Given the description of an element on the screen output the (x, y) to click on. 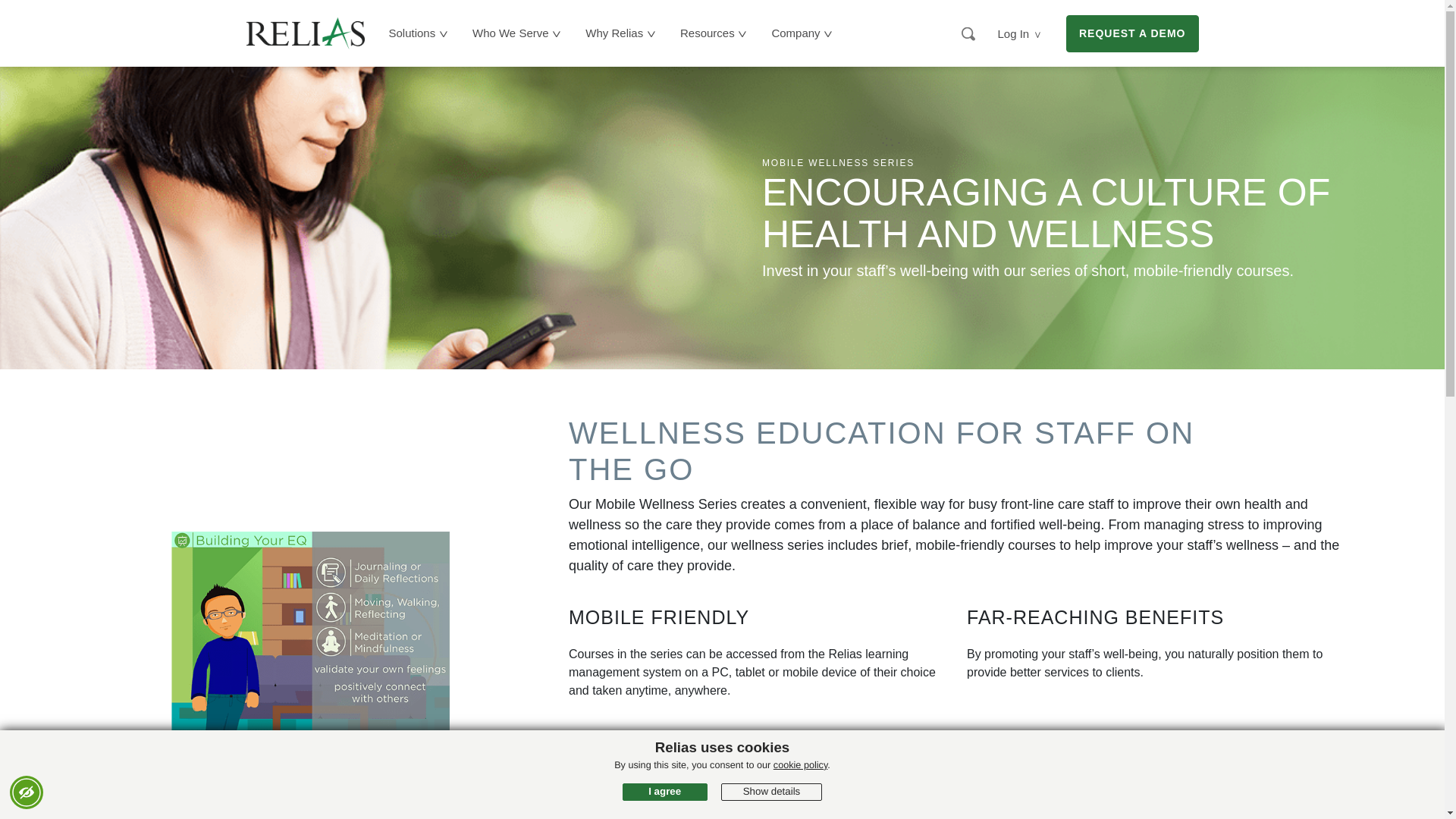
Show details (771, 791)
cookie policy (800, 765)
I agree (665, 791)
